Given the description of an element on the screen output the (x, y) to click on. 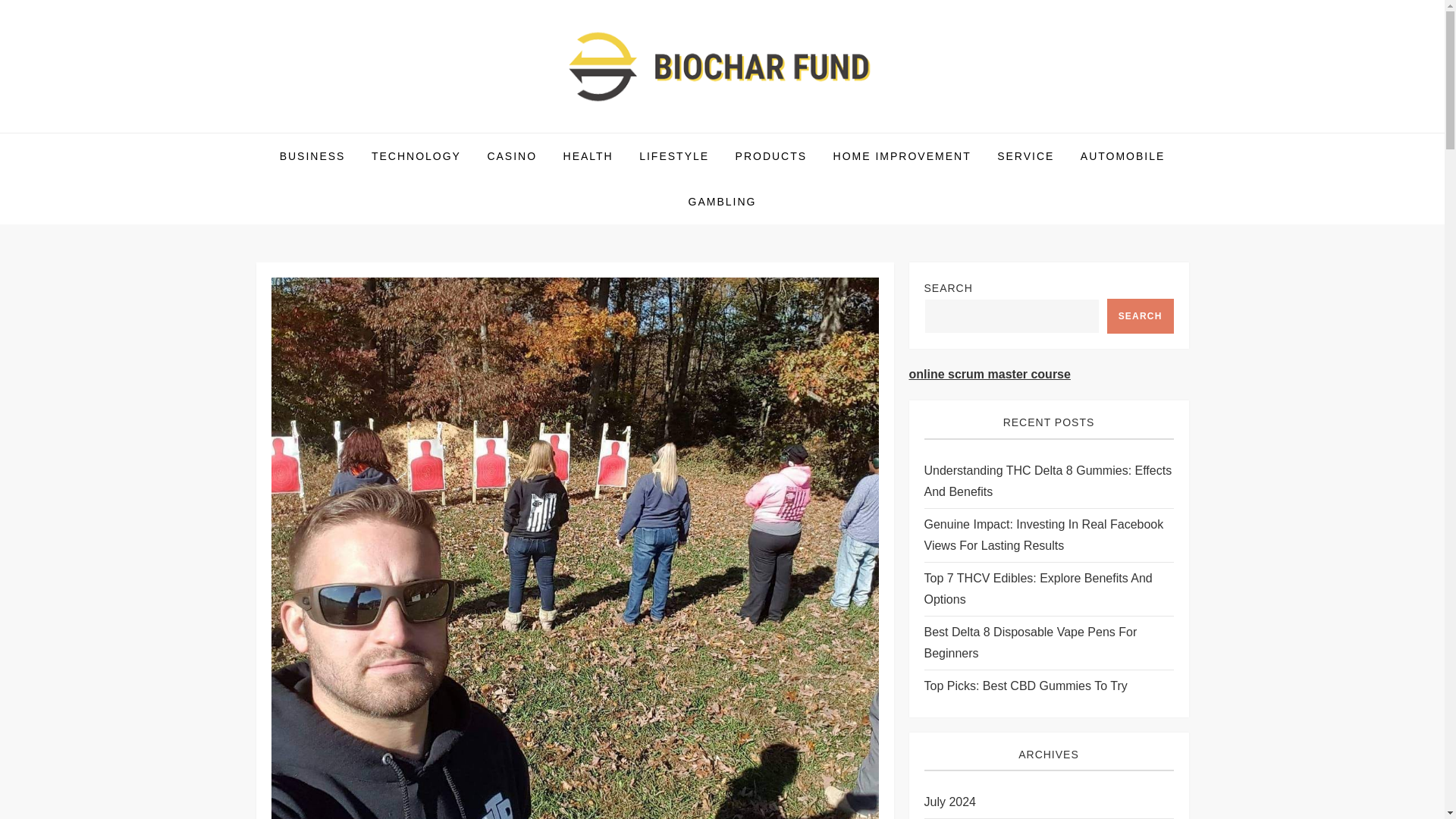
BUSINESS (311, 156)
SEARCH (1139, 315)
July 2024 (949, 802)
AUTOMOBILE (1122, 156)
Top 7 THCV Edibles: Explore Benefits And Options (1048, 589)
TECHNOLOGY (415, 156)
HOME IMPROVEMENT (902, 156)
HEALTH (587, 156)
GAMBLING (722, 201)
Best Delta 8 Disposable Vape Pens For Beginners (1048, 642)
online scrum master course (989, 373)
LIFESTYLE (673, 156)
Understanding THC Delta 8 Gummies: Effects And Benefits (1048, 481)
Top Picks: Best CBD Gummies To Try (1024, 685)
